Given the description of an element on the screen output the (x, y) to click on. 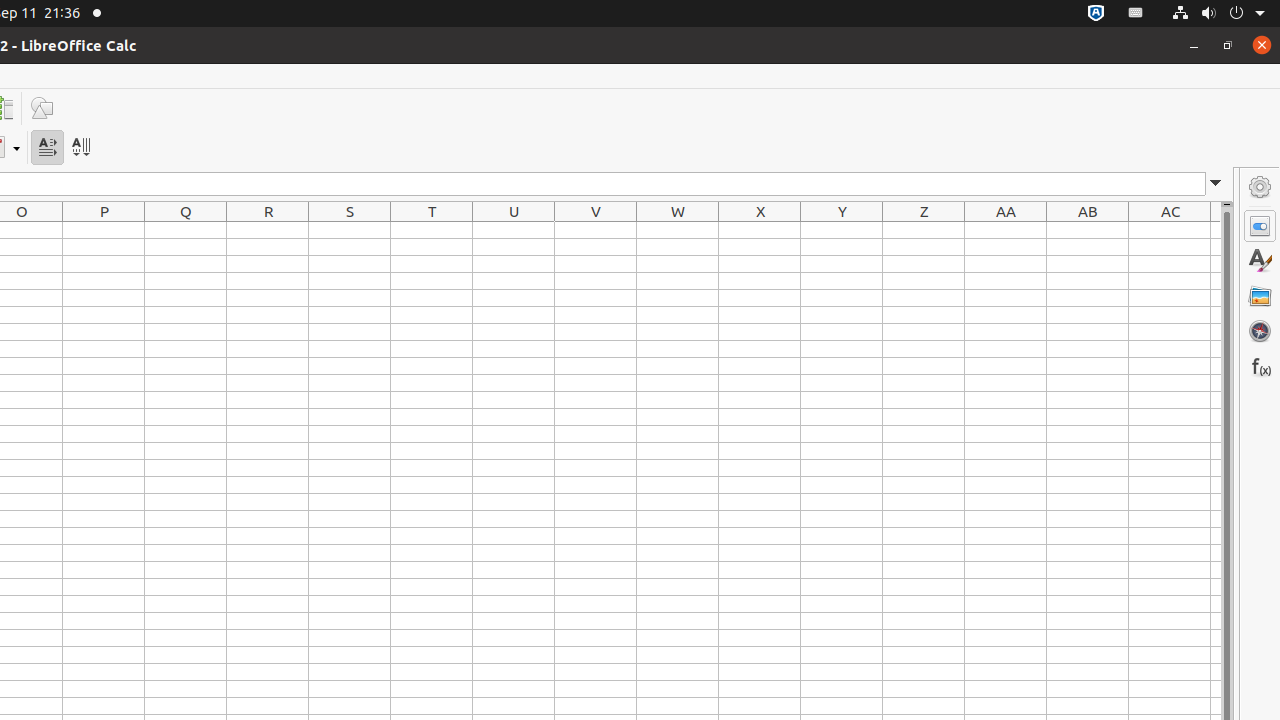
Properties Element type: radio-button (1260, 226)
Q1 Element type: table-cell (186, 230)
W1 Element type: table-cell (678, 230)
U1 Element type: table-cell (514, 230)
AA1 Element type: table-cell (1006, 230)
